Given the description of an element on the screen output the (x, y) to click on. 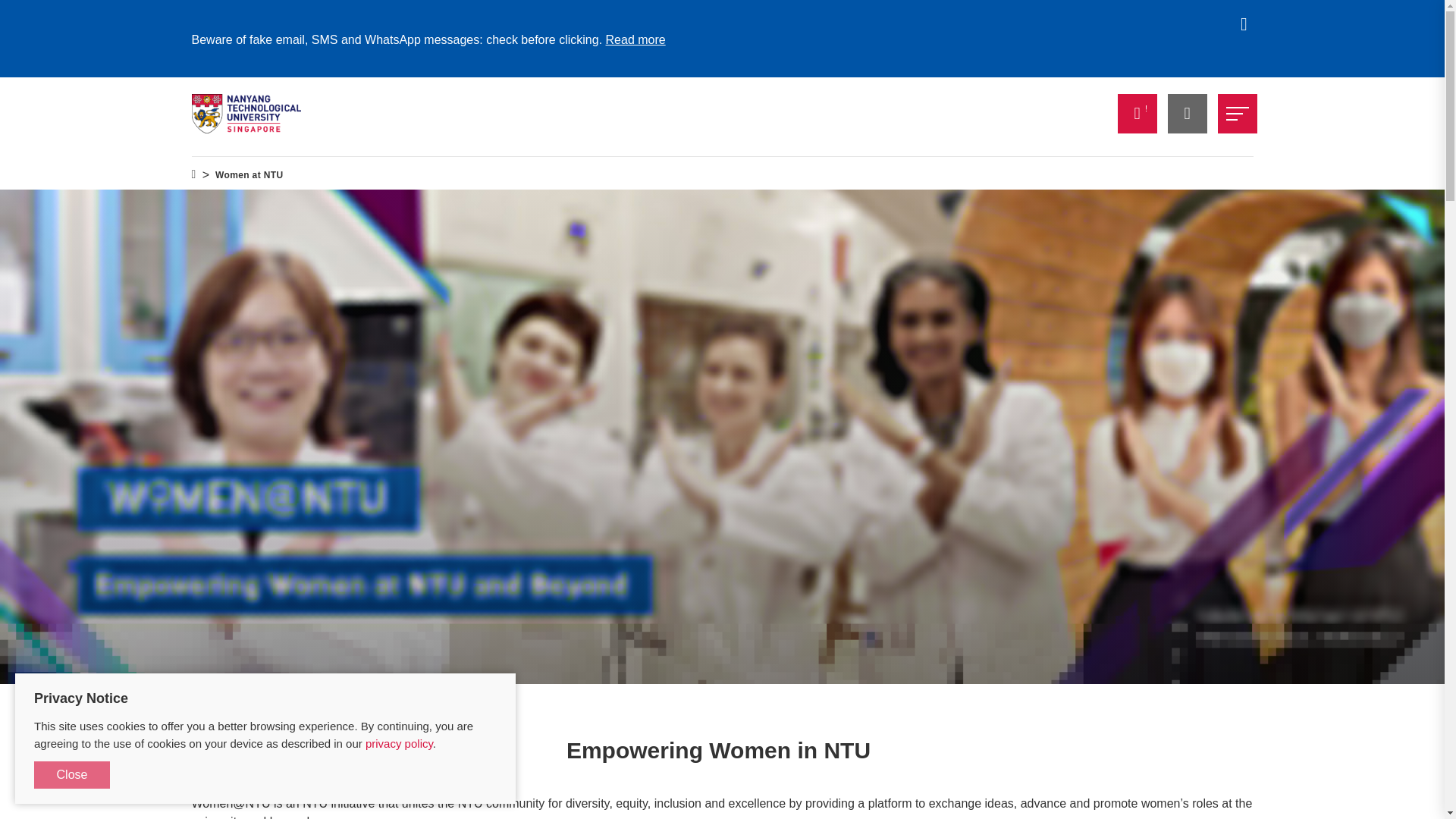
Close (71, 774)
privacy policy (398, 743)
Read more (635, 39)
Nanyang Technological University (245, 113)
